Given the description of an element on the screen output the (x, y) to click on. 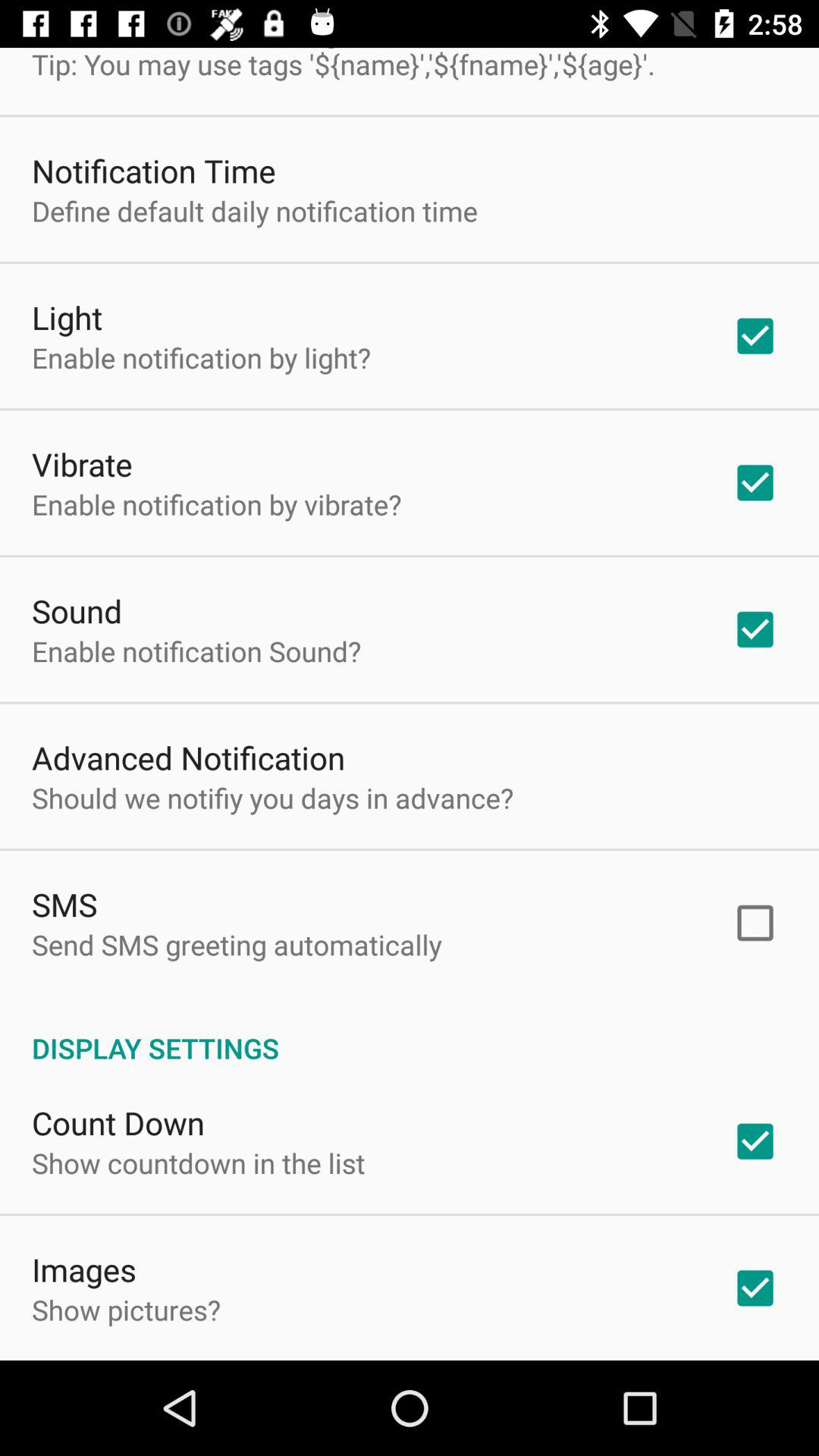
turn off images app (83, 1269)
